Given the description of an element on the screen output the (x, y) to click on. 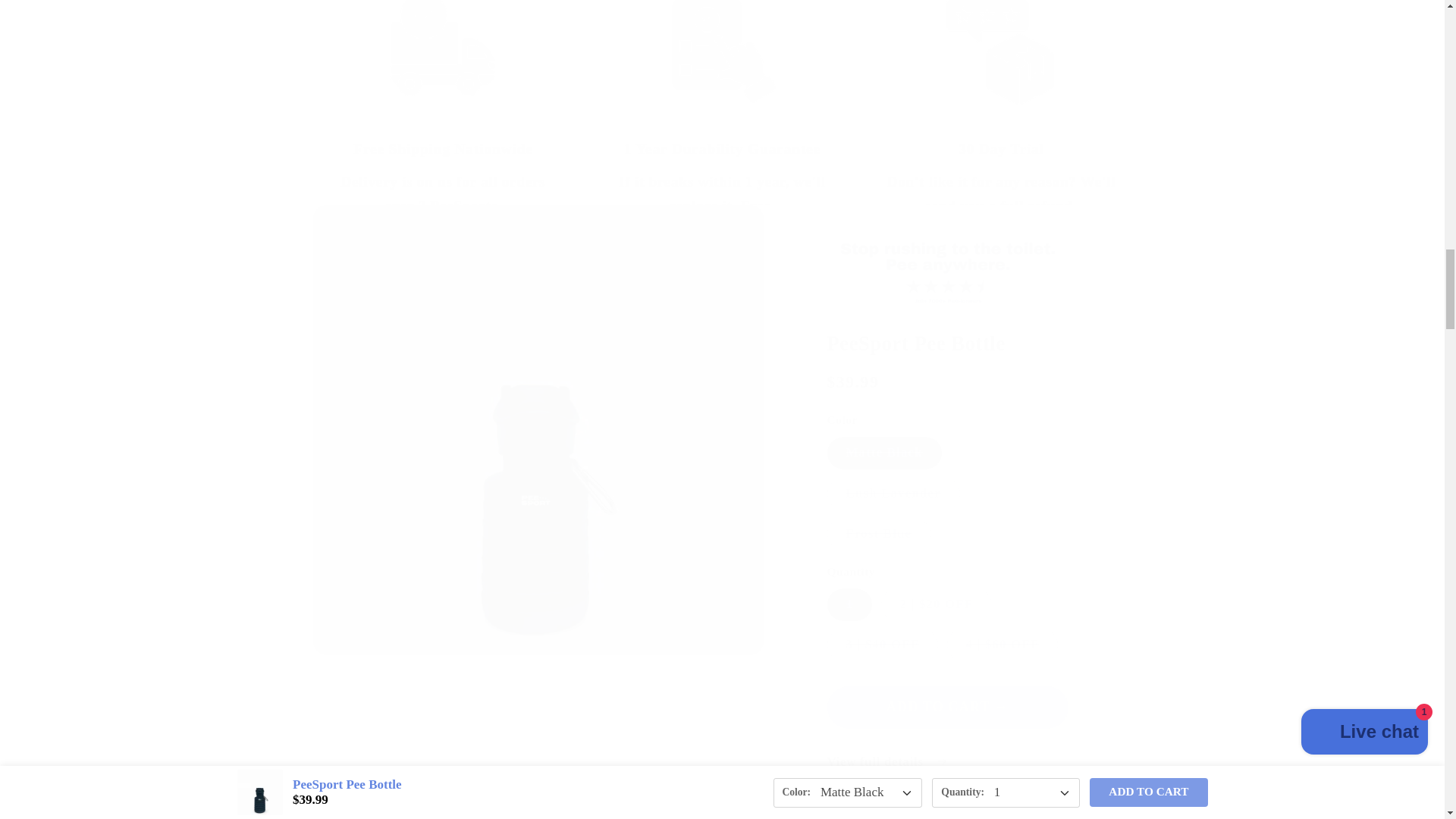
We researched all the alternatives. It grossed us out. (721, 811)
View full details (947, 762)
